Given the description of an element on the screen output the (x, y) to click on. 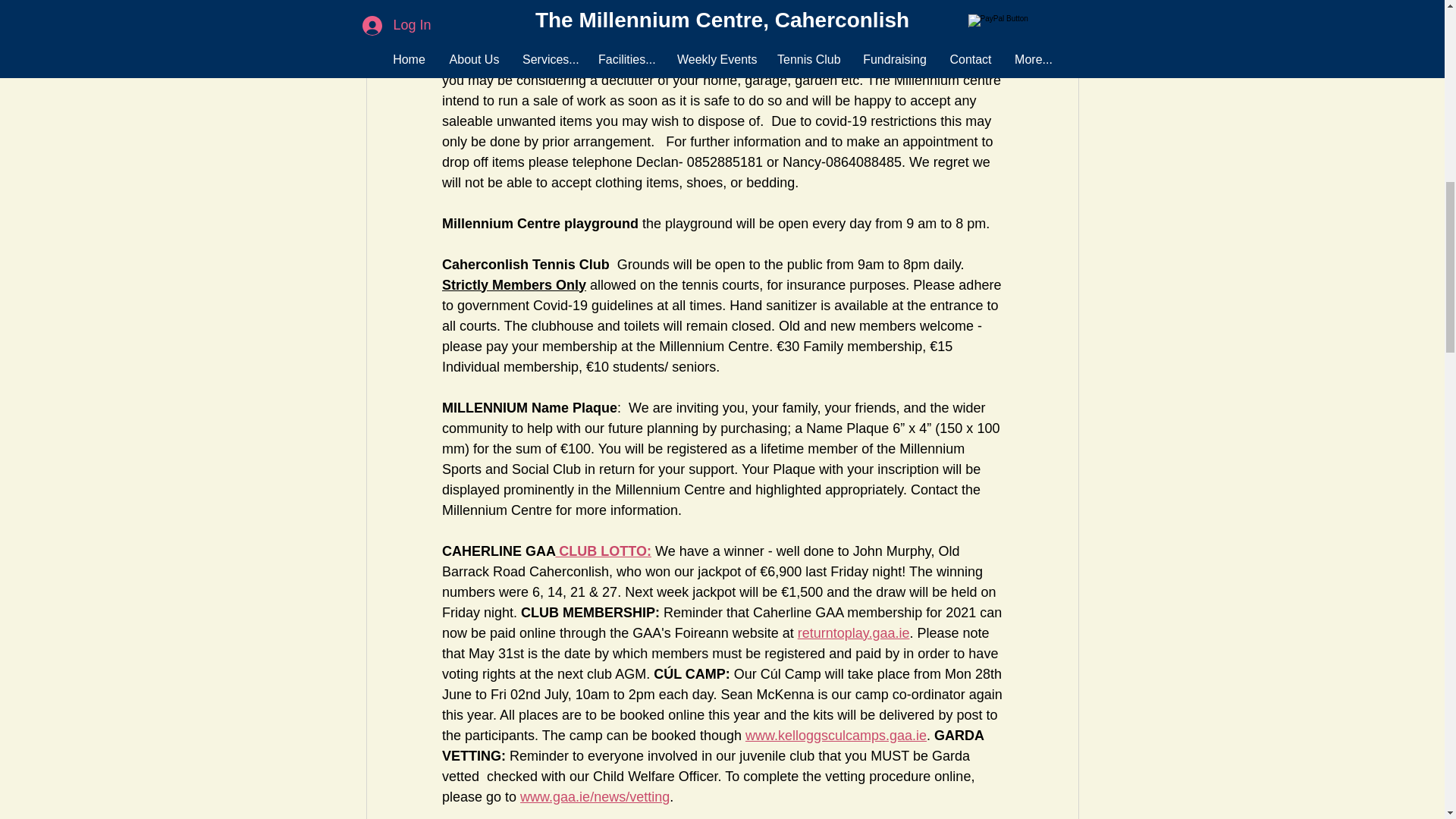
www.kelloggsculcamps.gaa.ie (835, 735)
returntoplay.gaa.ie (852, 632)
 CLUB LOTTO: (602, 550)
